Given the description of an element on the screen output the (x, y) to click on. 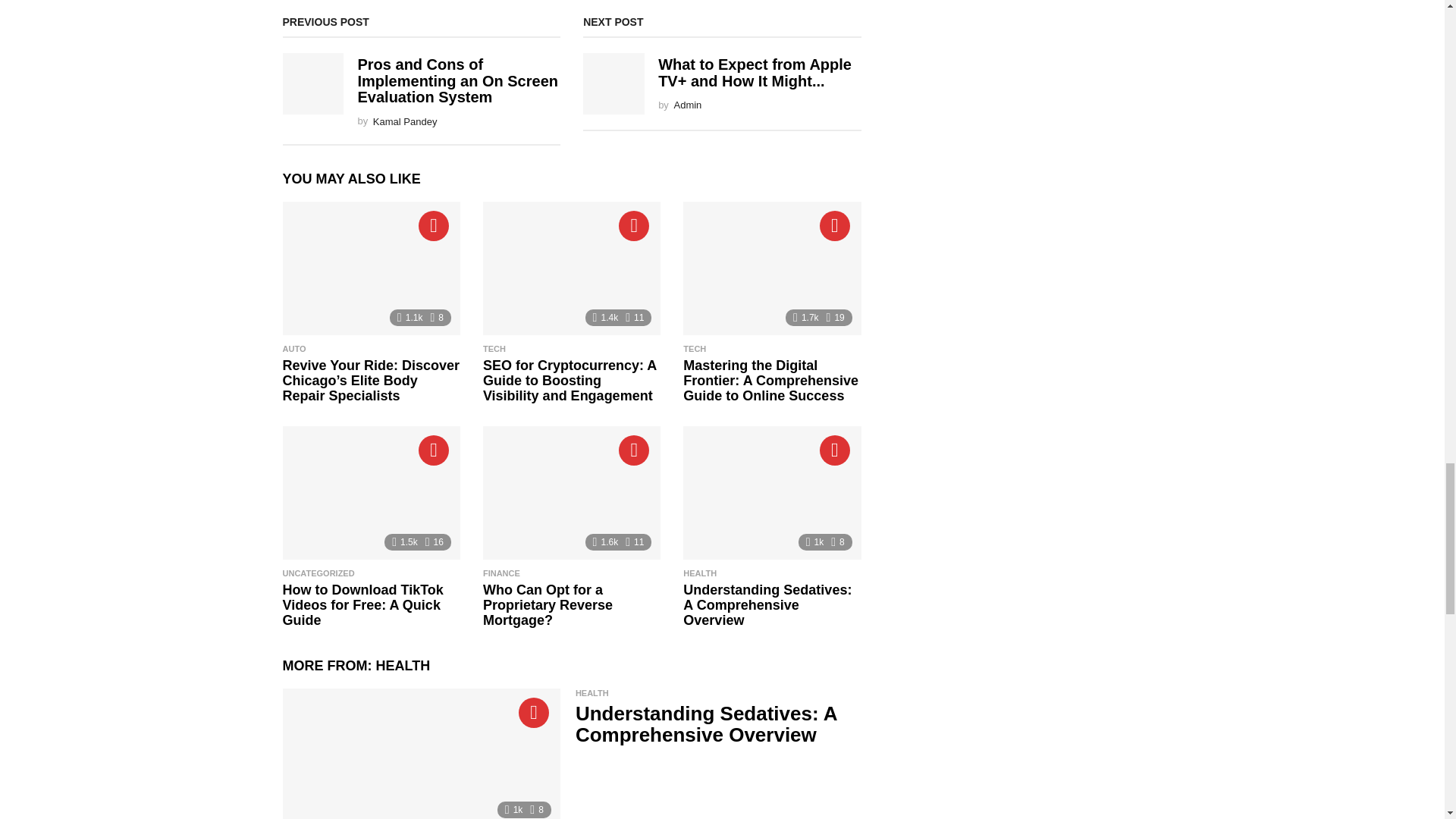
Trending (633, 225)
Trending (433, 225)
